Given the description of an element on the screen output the (x, y) to click on. 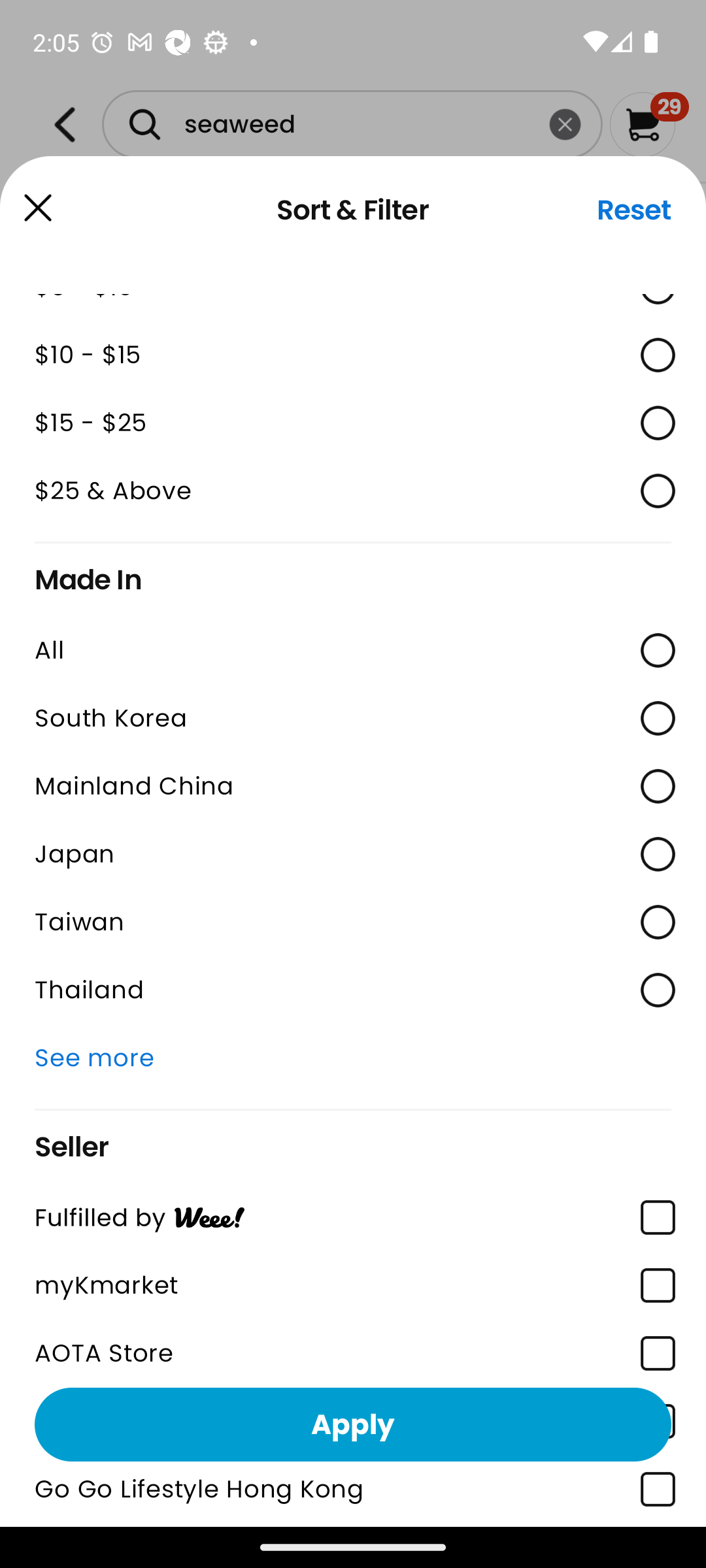
Reset (633, 209)
See more (353, 1057)
Apply (352, 1424)
